Given the description of an element on the screen output the (x, y) to click on. 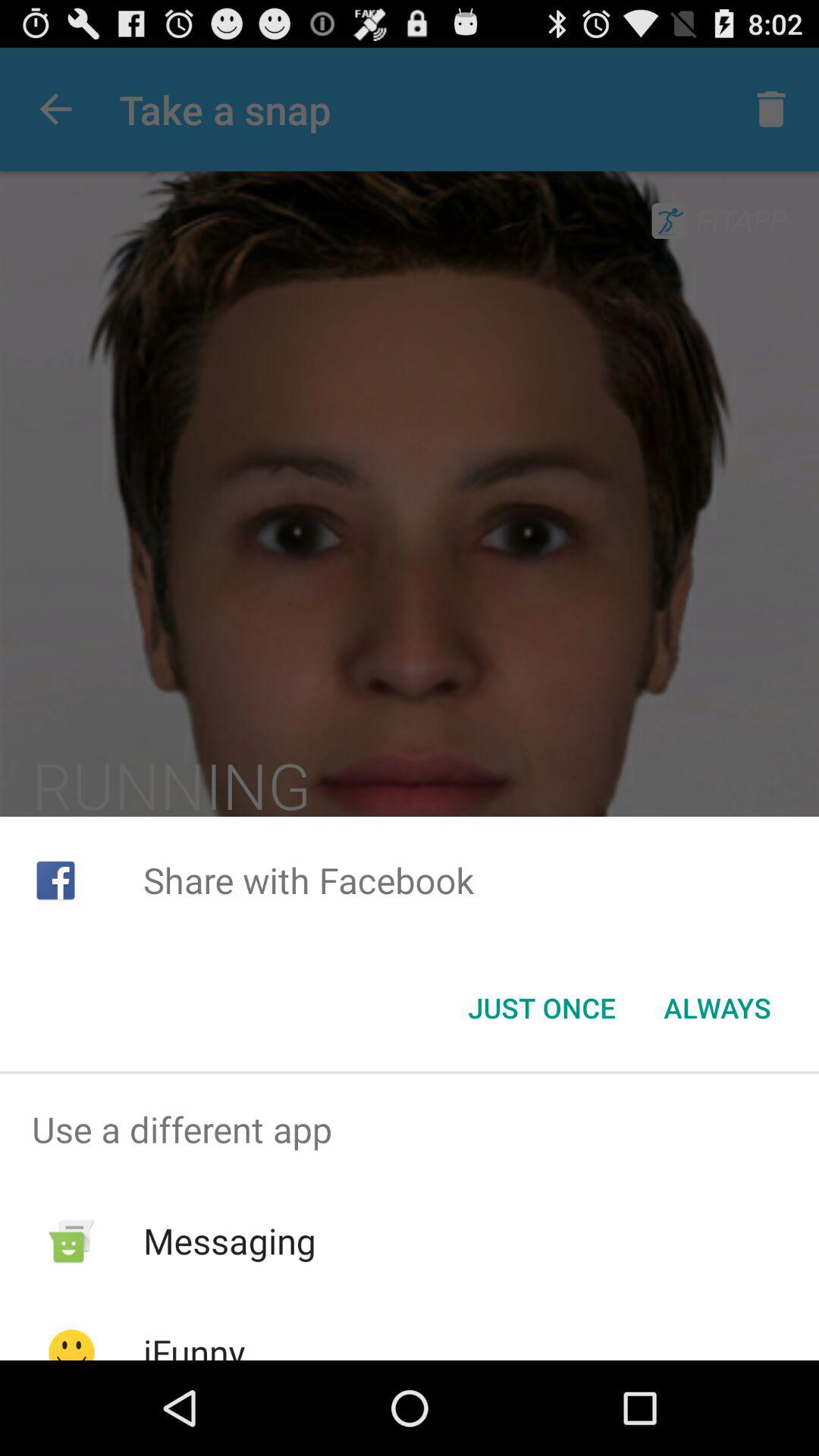
scroll until the always button (717, 1007)
